Given the description of an element on the screen output the (x, y) to click on. 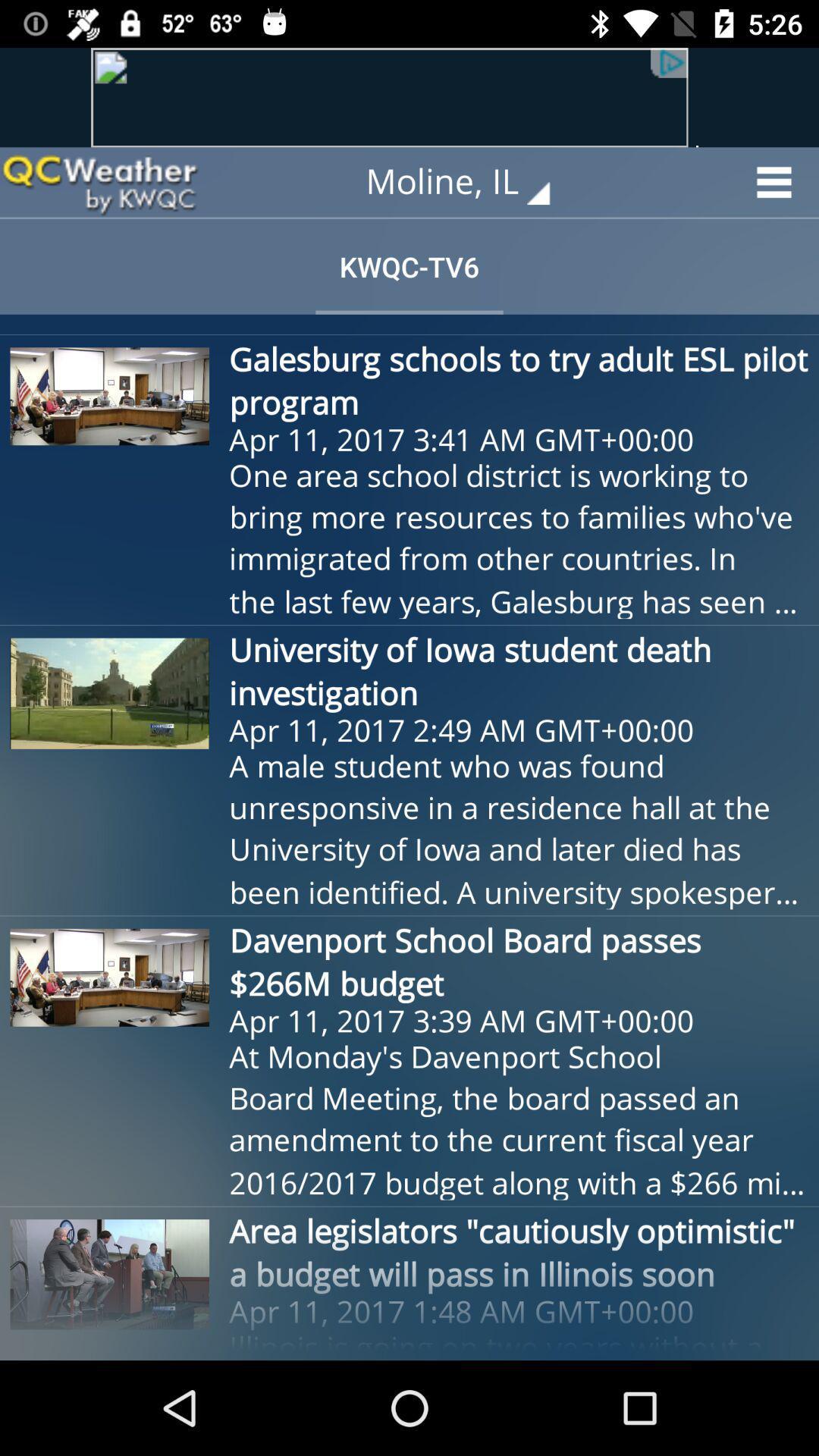
select icon next to moline, il icon (99, 182)
